Given the description of an element on the screen output the (x, y) to click on. 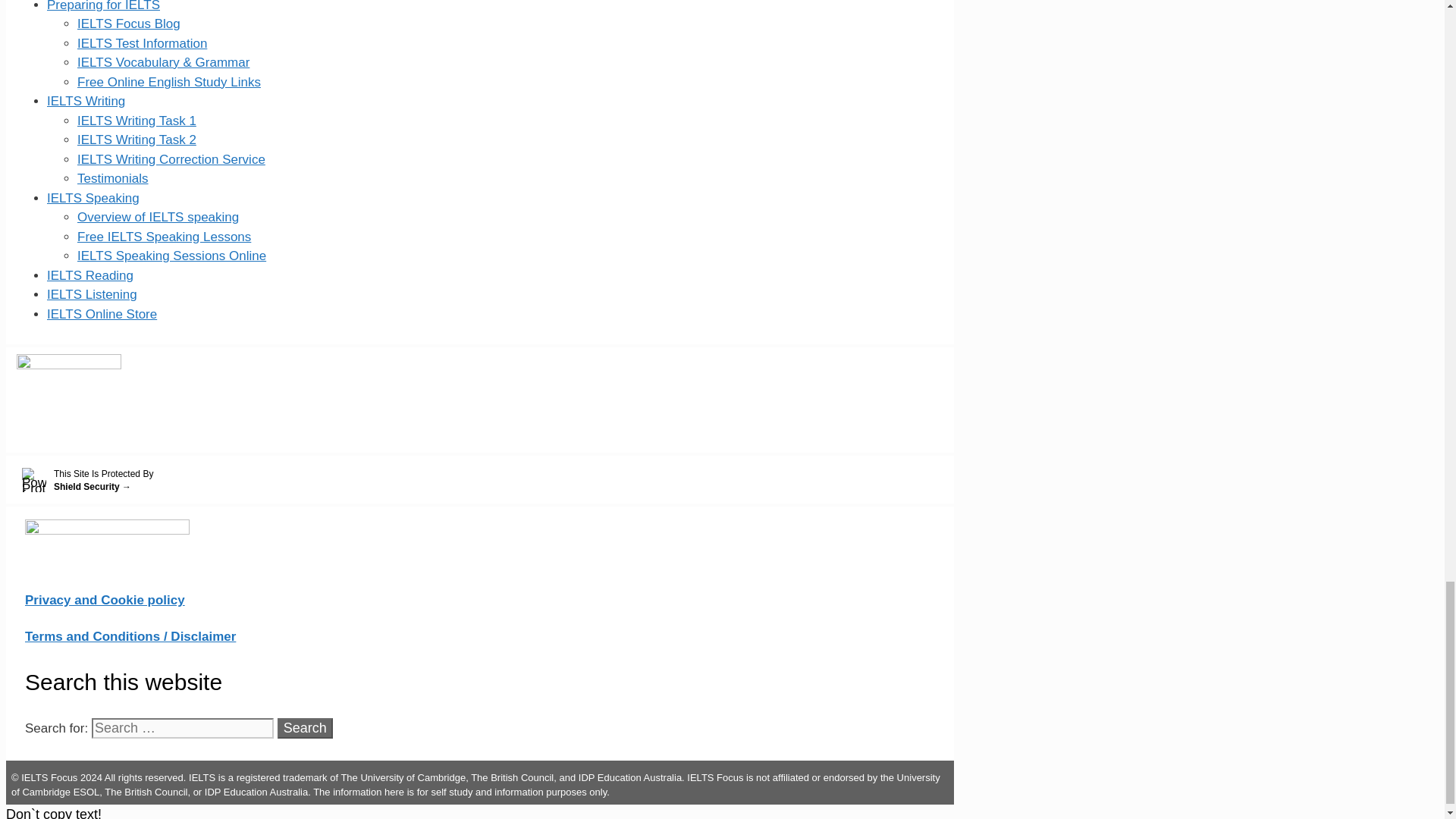
Search (305, 728)
Search for: (182, 728)
Search (305, 728)
Shield Security (481, 480)
